Given the description of an element on the screen output the (x, y) to click on. 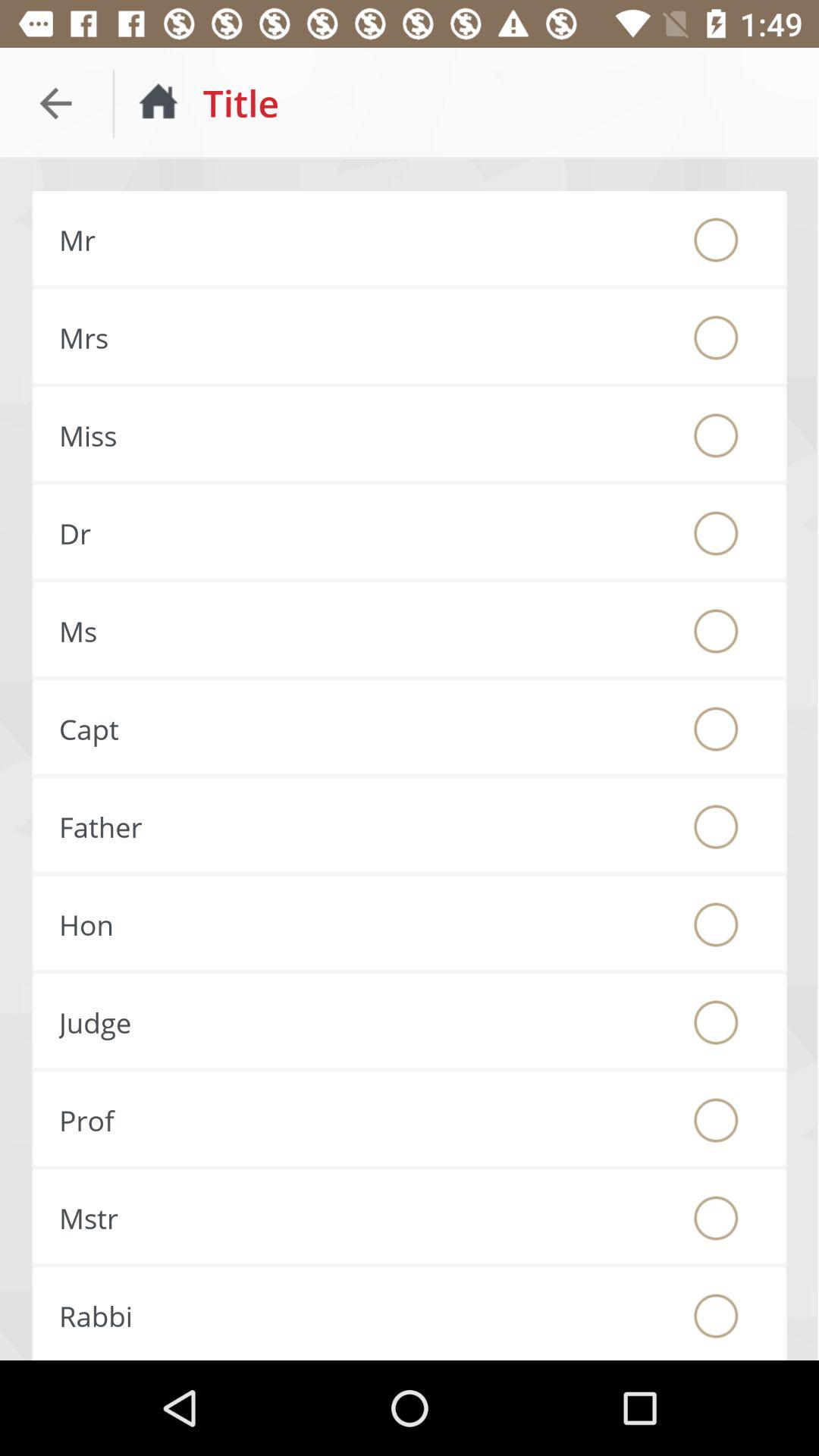
title selector (715, 1218)
